Given the description of an element on the screen output the (x, y) to click on. 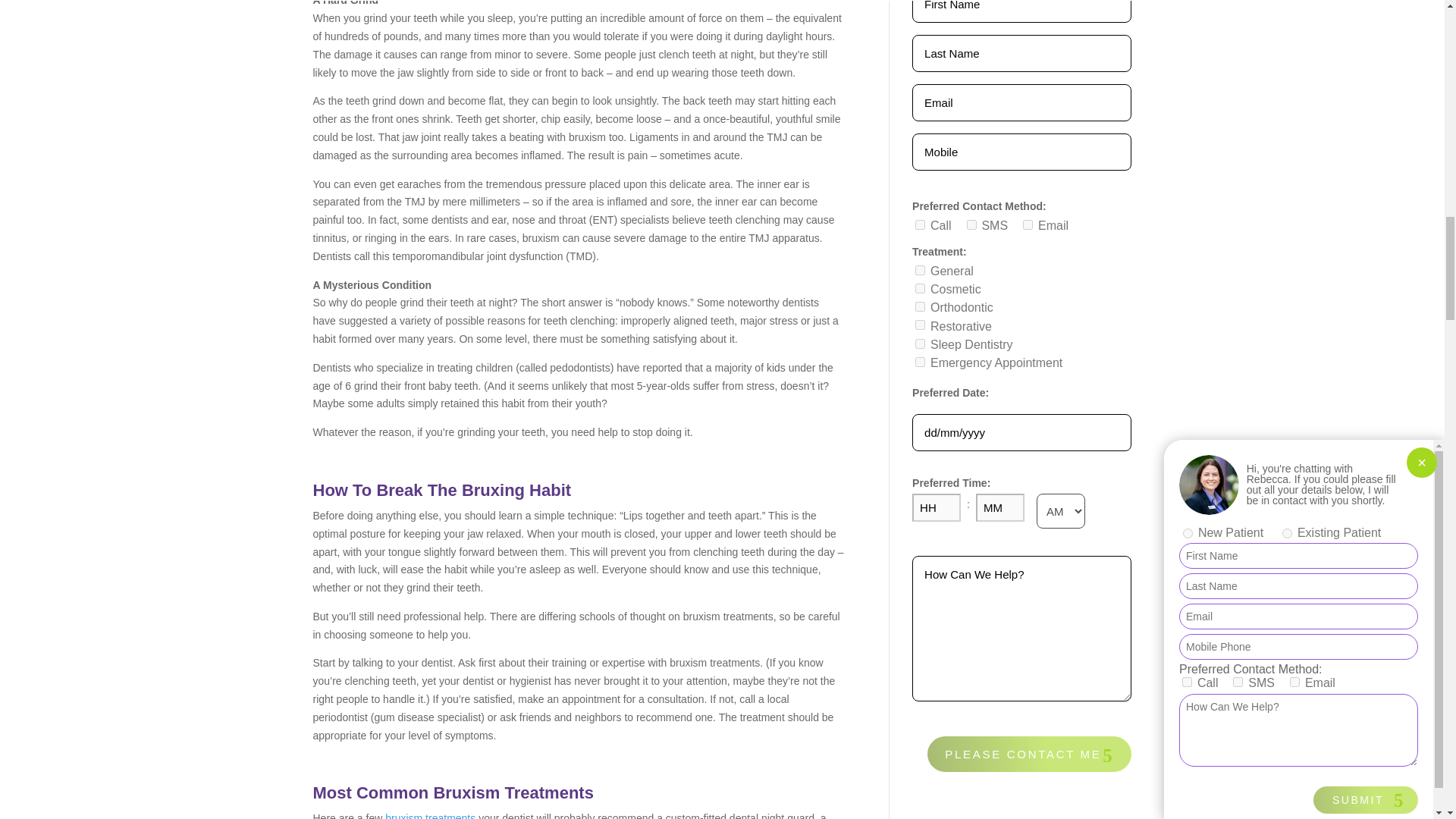
Call (919, 225)
Orthodontic (919, 307)
SMS (971, 225)
Cosmetic (919, 288)
Please Contact Me (1029, 754)
Emergency Appointment (919, 361)
Sleep Dentistry (919, 343)
Restorative (919, 325)
General (919, 270)
Email (1027, 225)
